Given the description of an element on the screen output the (x, y) to click on. 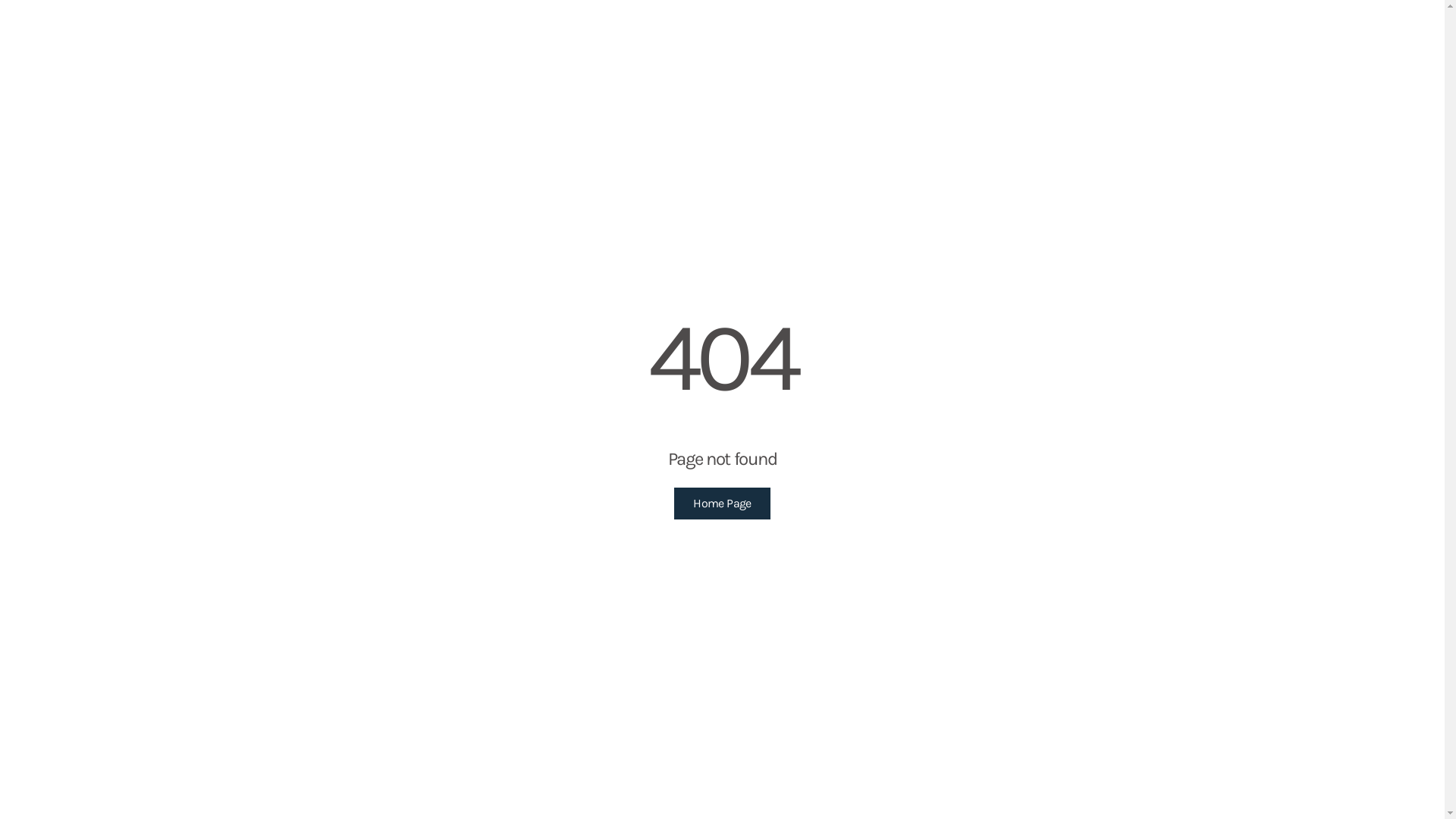
Home Page Element type: text (721, 503)
